Given the description of an element on the screen output the (x, y) to click on. 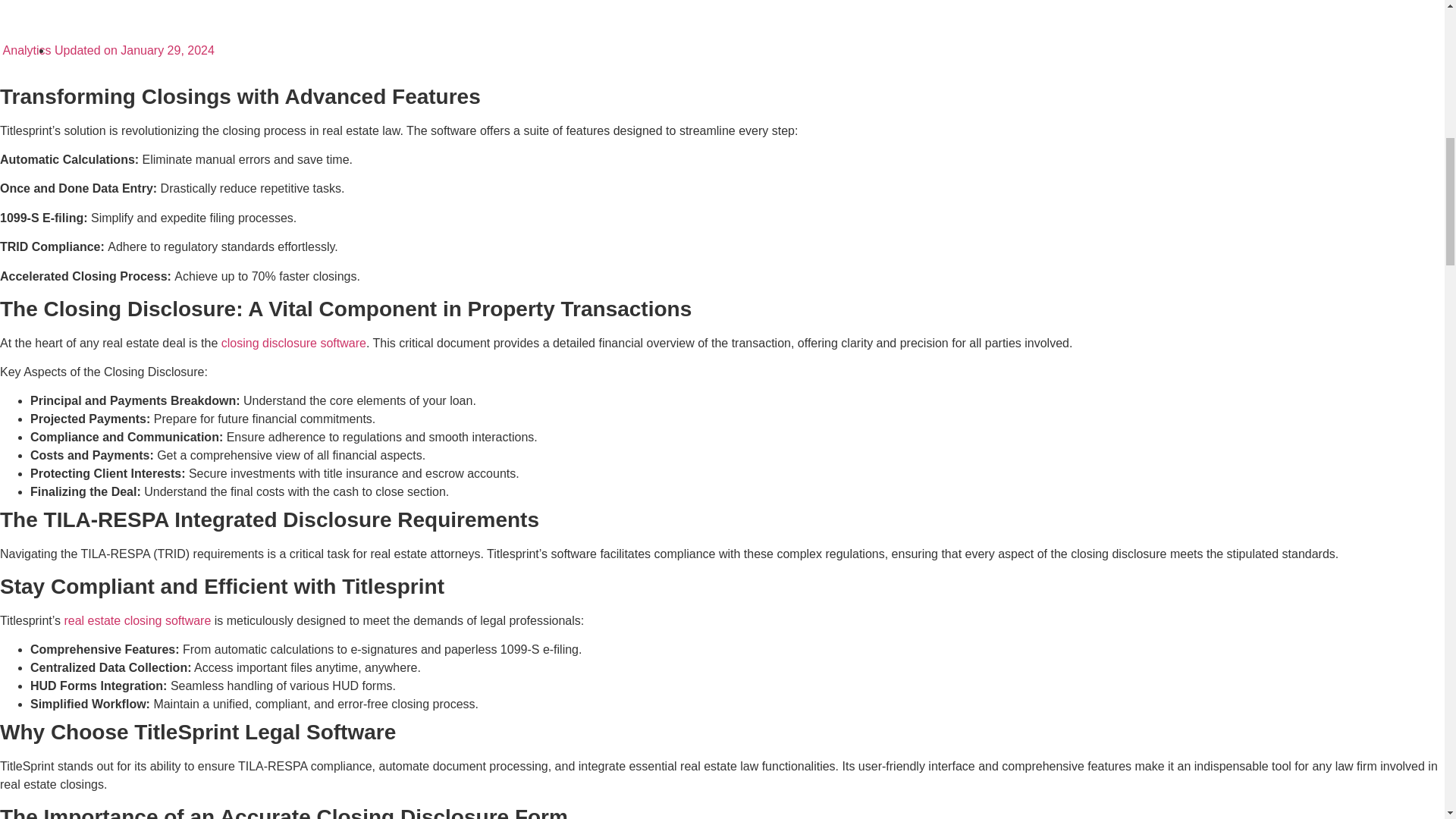
Analytics (25, 50)
Updated on January 29, 2024 (132, 50)
closing disclosure software (293, 342)
real estate closing software (137, 620)
